Given the description of an element on the screen output the (x, y) to click on. 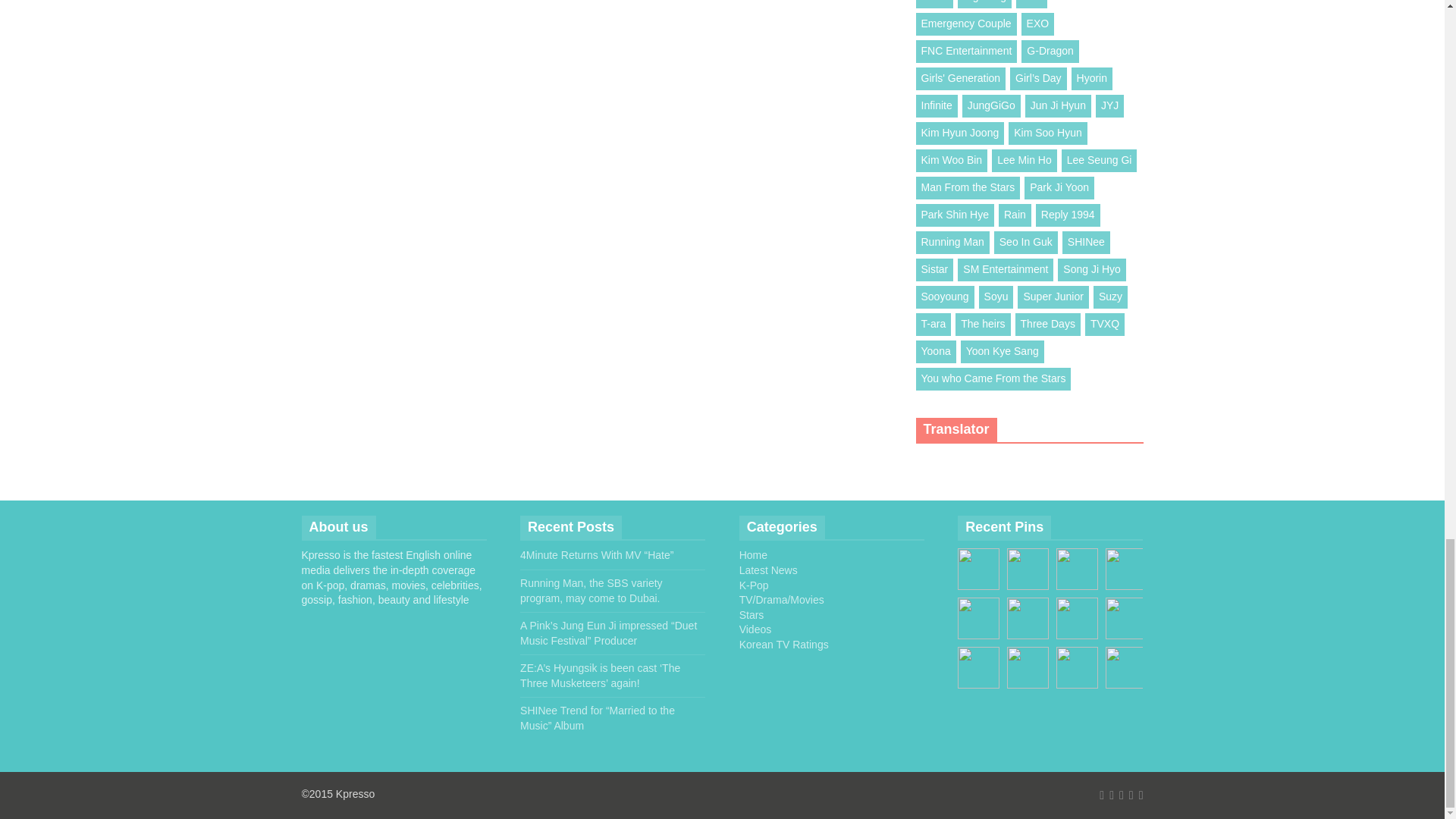
11 topics (1038, 24)
5 topics (984, 4)
4 topics (965, 24)
5 topics (966, 51)
5 topics (934, 4)
5 topics (1031, 4)
